Given the description of an element on the screen output the (x, y) to click on. 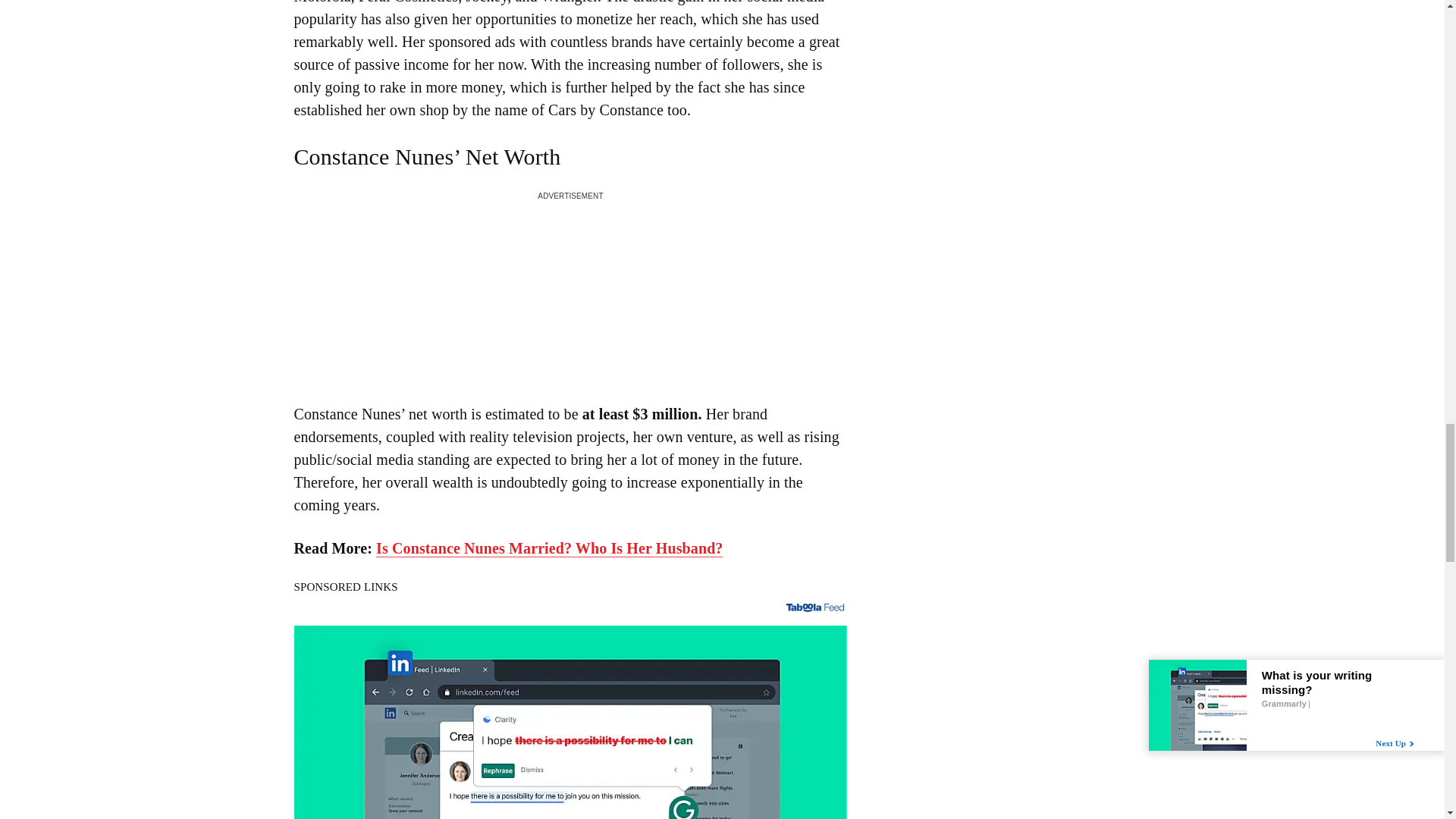
Is Constance Nunes Married? Who Is Her Husband? (548, 548)
What is your writing missing? (570, 722)
